Given the description of an element on the screen output the (x, y) to click on. 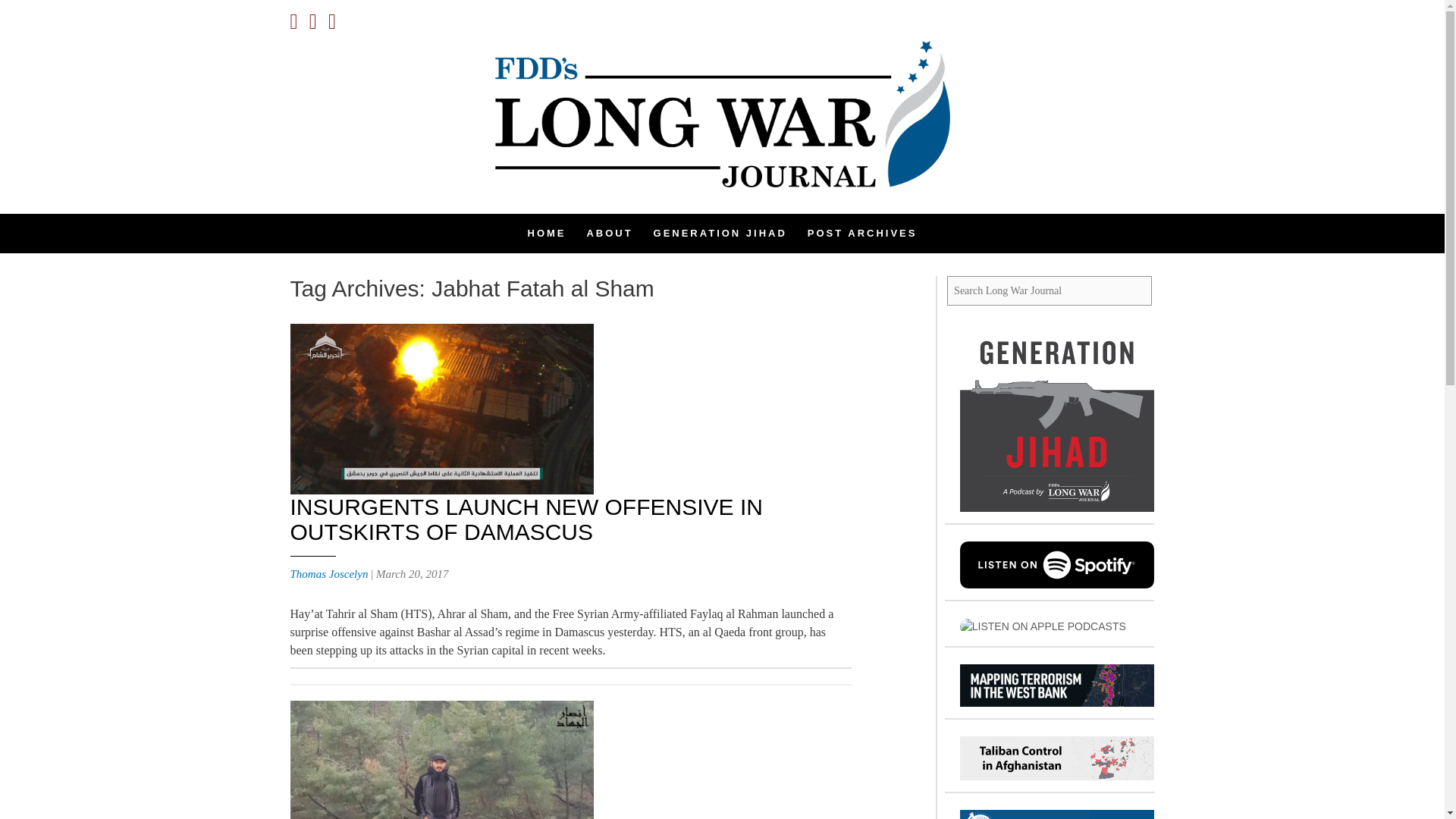
Insurgents launch new offensive in outskirts of Damascus (525, 519)
Posts by Thomas Joscelyn (328, 573)
GENERATION JIHAD (720, 233)
POST ARCHIVES (862, 233)
HOME (546, 233)
Thomas Joscelyn (328, 573)
INSURGENTS LAUNCH NEW OFFENSIVE IN OUTSKIRTS OF DAMASCUS (525, 519)
ABOUT (608, 233)
